Given the description of an element on the screen output the (x, y) to click on. 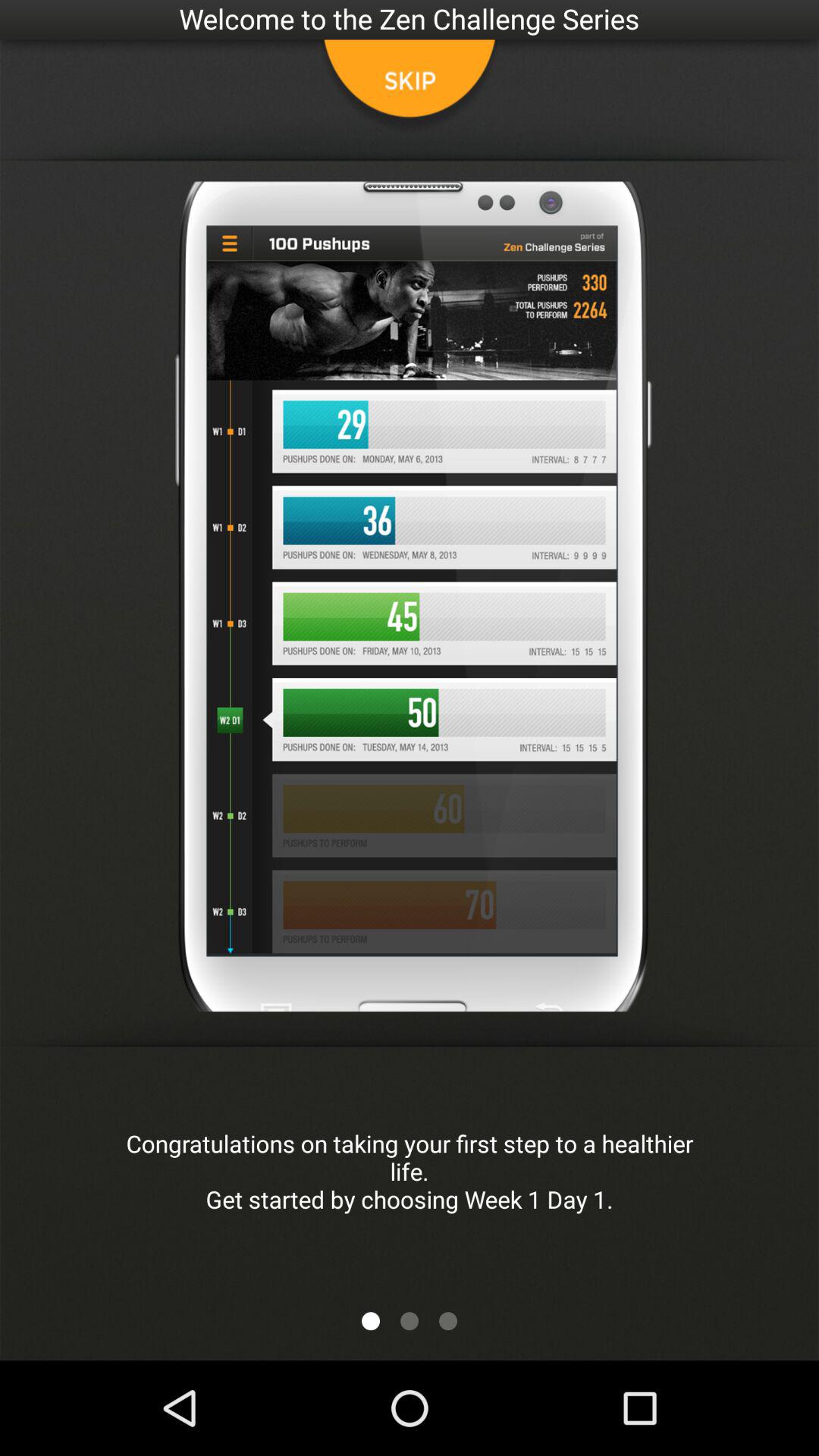
skip tutorial (409, 87)
